Given the description of an element on the screen output the (x, y) to click on. 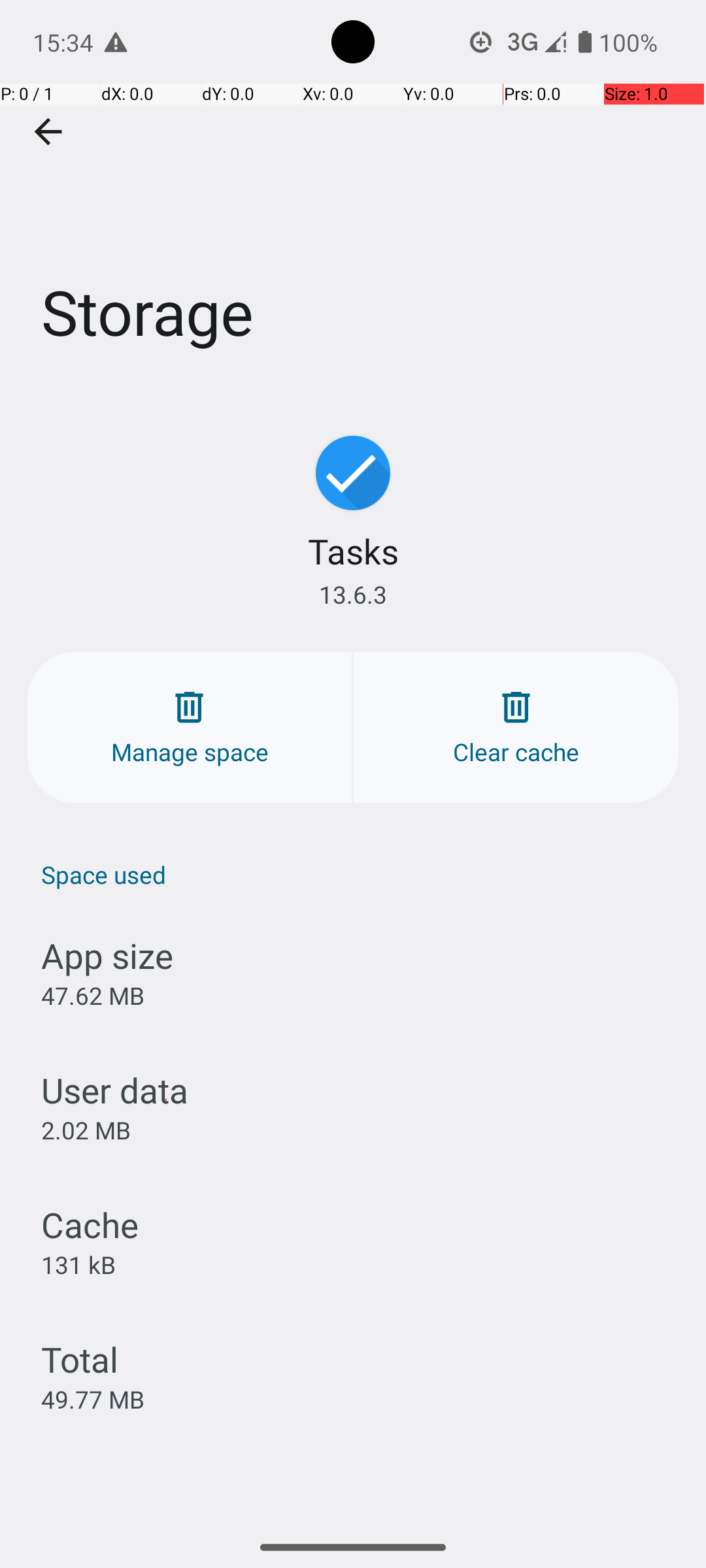
13.6.3 Element type: android.widget.TextView (352, 593)
Manage space Element type: android.widget.Button (189, 727)
Clear cache Element type: android.widget.Button (515, 727)
Space used Element type: android.widget.TextView (359, 874)
App size Element type: android.widget.TextView (107, 955)
47.62 MB Element type: android.widget.TextView (92, 995)
User data Element type: android.widget.TextView (114, 1089)
2.02 MB Element type: android.widget.TextView (85, 1129)
Cache Element type: android.widget.TextView (89, 1224)
131 kB Element type: android.widget.TextView (78, 1264)
Total Element type: android.widget.TextView (79, 1359)
49.77 MB Element type: android.widget.TextView (92, 1398)
